Given the description of an element on the screen output the (x, y) to click on. 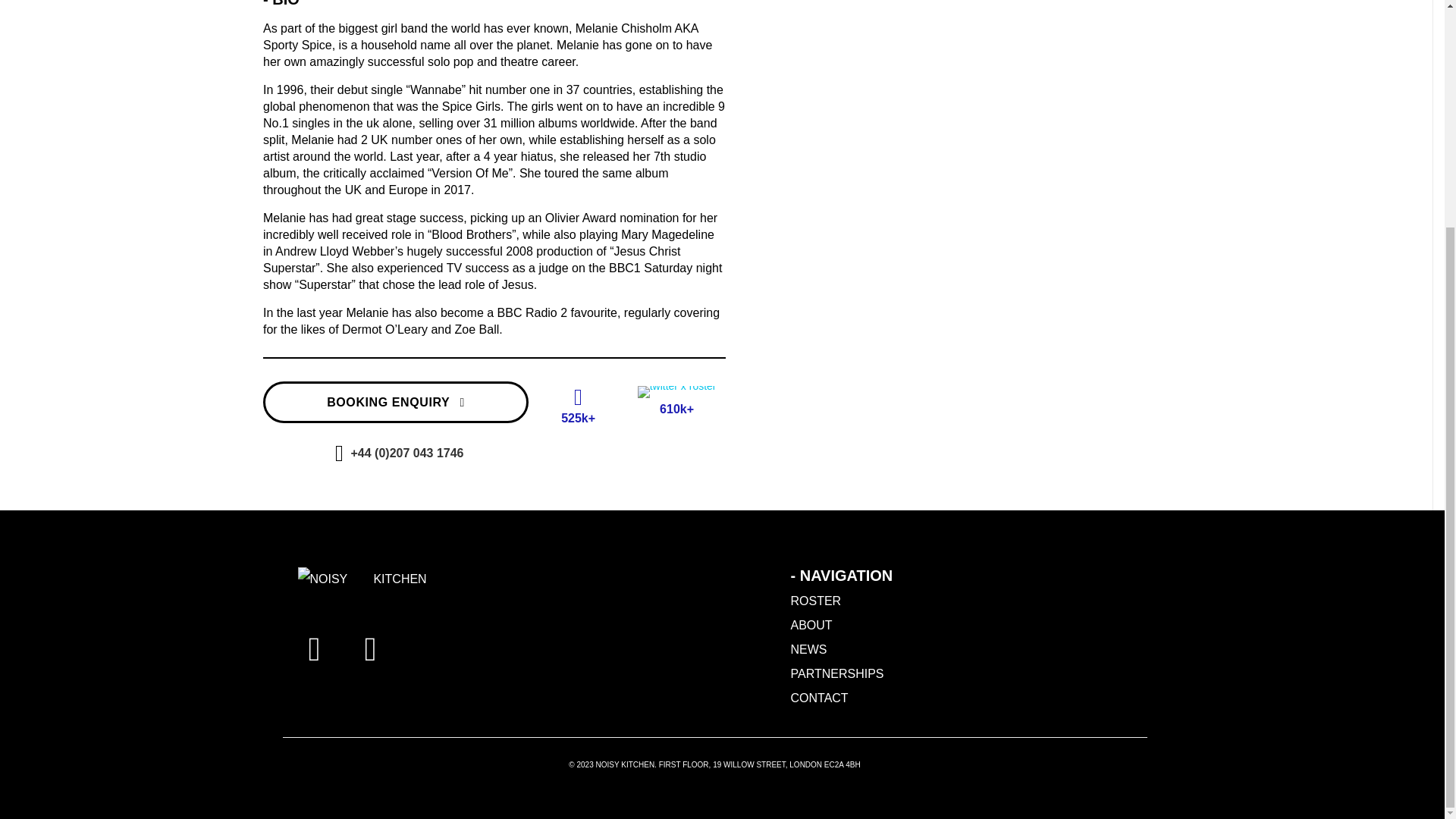
twitter x roster (676, 391)
BOOKING ENQUIRY (395, 402)
